Given the description of an element on the screen output the (x, y) to click on. 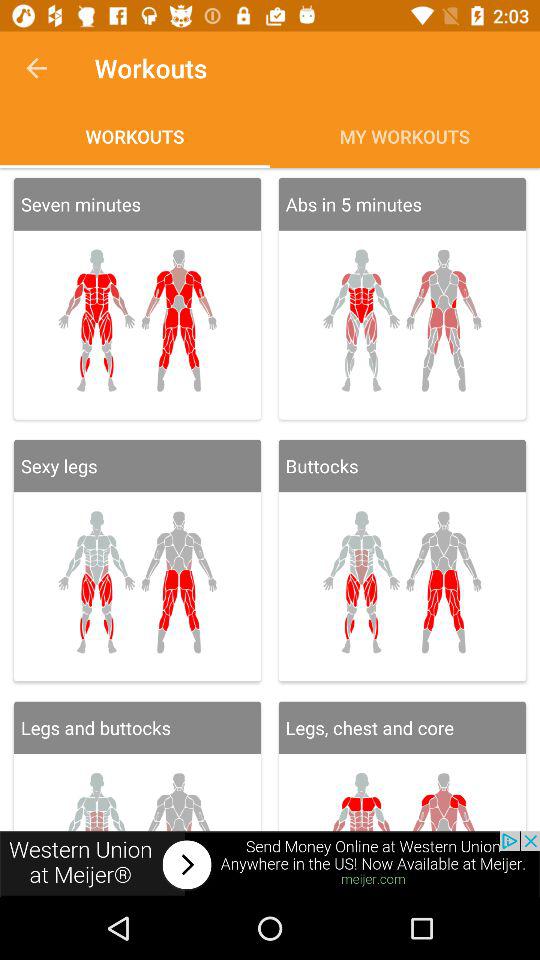
advertisement (270, 864)
